Given the description of an element on the screen output the (x, y) to click on. 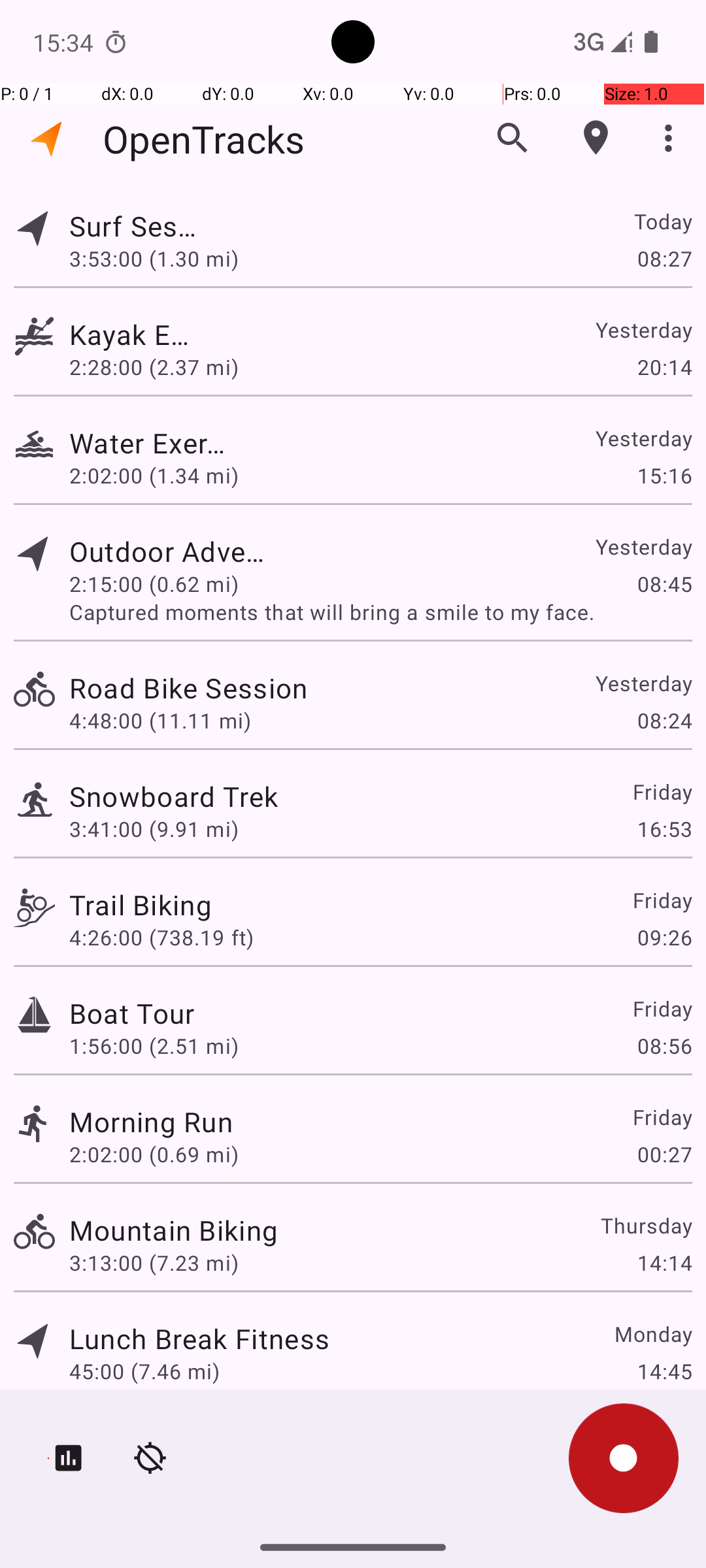
Surf Session Element type: android.widget.TextView (140, 225)
3:53:00 (1.30 mi) Element type: android.widget.TextView (161, 258)
08:27 Element type: android.widget.TextView (664, 258)
Kayak Expedition Element type: android.widget.TextView (131, 333)
2:28:00 (2.37 mi) Element type: android.widget.TextView (153, 366)
20:14 Element type: android.widget.TextView (664, 366)
2:02:00 (1.34 mi) Element type: android.widget.TextView (153, 475)
15:16 Element type: android.widget.TextView (664, 475)
2:15:00 (0.62 mi) Element type: android.widget.TextView (153, 583)
08:45 Element type: android.widget.TextView (664, 583)
Captured moments that will bring a smile to my face. Element type: android.widget.TextView (380, 611)
Road Bike Session Element type: android.widget.TextView (199, 687)
4:48:00 (11.11 mi) Element type: android.widget.TextView (159, 720)
08:24 Element type: android.widget.TextView (664, 720)
Snowboard Trek Element type: android.widget.TextView (173, 795)
3:41:00 (9.91 mi) Element type: android.widget.TextView (153, 828)
16:53 Element type: android.widget.TextView (664, 828)
Trail Biking Element type: android.widget.TextView (140, 904)
4:26:00 (738.19 ft) Element type: android.widget.TextView (161, 937)
09:26 Element type: android.widget.TextView (664, 937)
1:56:00 (2.51 mi) Element type: android.widget.TextView (153, 1045)
08:56 Element type: android.widget.TextView (664, 1045)
Morning Run Element type: android.widget.TextView (150, 1121)
2:02:00 (0.69 mi) Element type: android.widget.TextView (153, 1154)
00:27 Element type: android.widget.TextView (664, 1154)
Mountain Biking Element type: android.widget.TextView (173, 1229)
3:13:00 (7.23 mi) Element type: android.widget.TextView (153, 1262)
14:14 Element type: android.widget.TextView (664, 1262)
Lunch Break Fitness Element type: android.widget.TextView (199, 1337)
45:00 (7.46 mi) Element type: android.widget.TextView (144, 1370)
14:45 Element type: android.widget.TextView (664, 1370)
Stepped outside my comfort zone. Element type: android.widget.TextView (380, 1399)
